Given the description of an element on the screen output the (x, y) to click on. 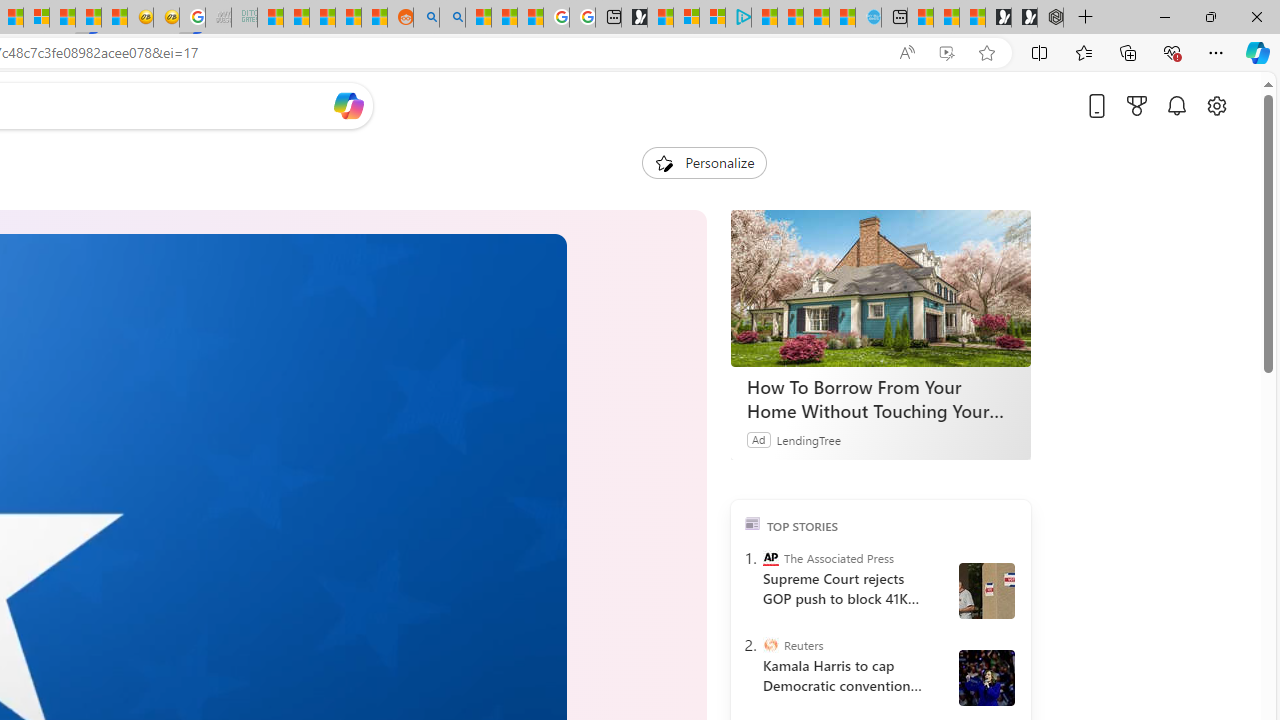
Utah sues federal government - Search (452, 17)
